Given the description of an element on the screen output the (x, y) to click on. 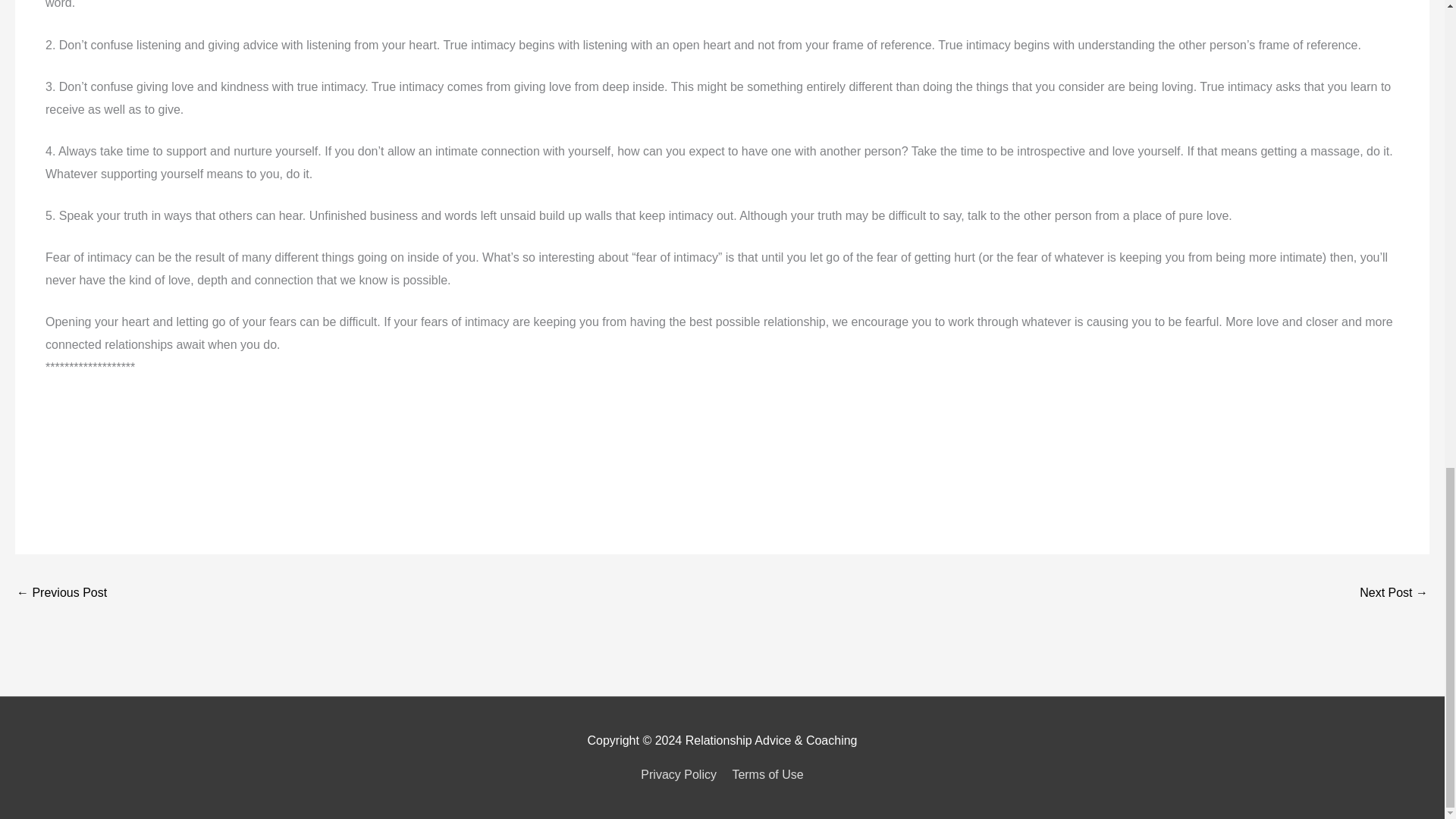
Privacy Policy (681, 774)
Terms of Use (764, 774)
Opening to Deeper Intimacy (1393, 593)
